Given the description of an element on the screen output the (x, y) to click on. 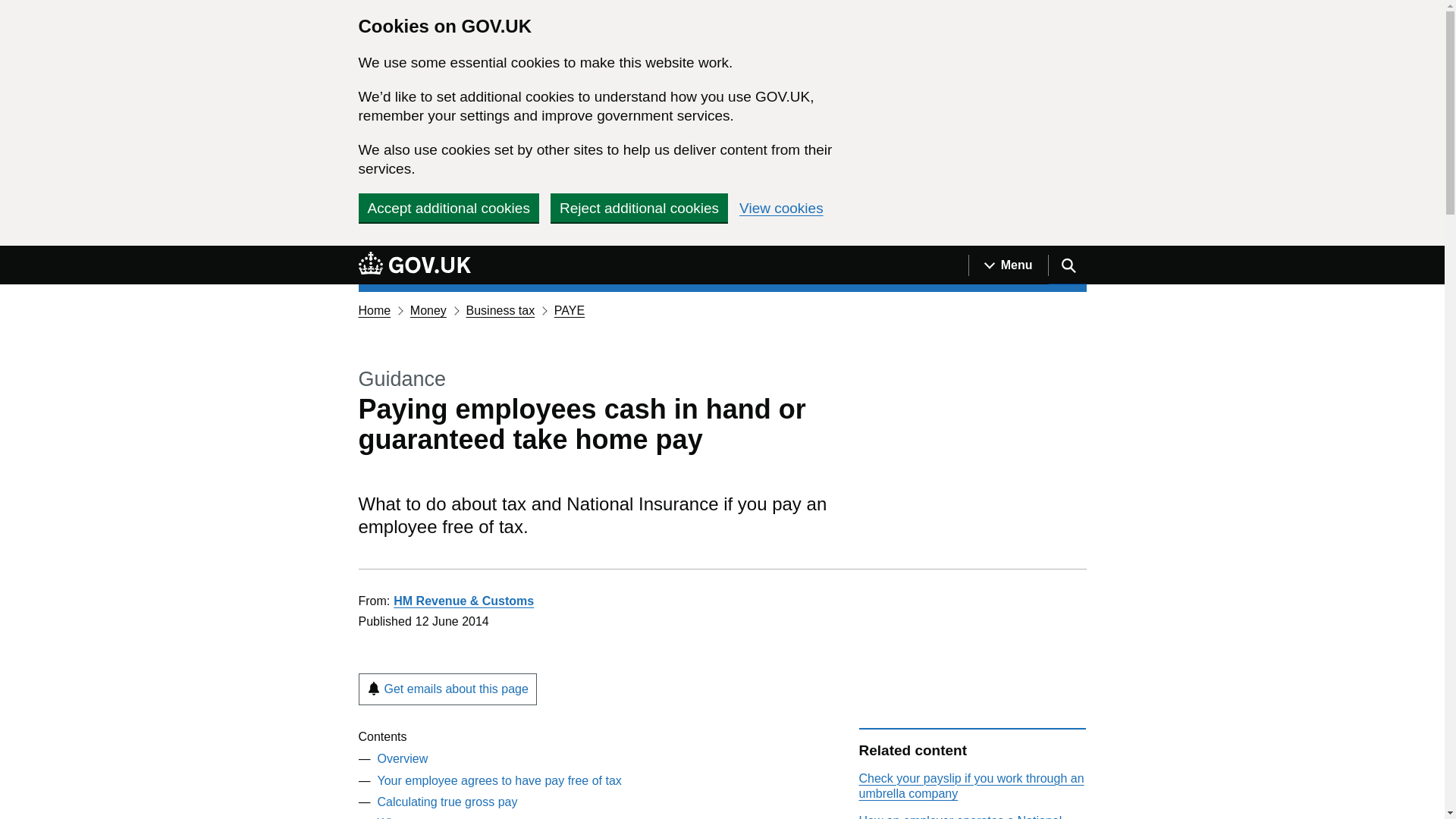
Menu (1008, 265)
Check your payslip if you work through an umbrella company (971, 786)
Your employee agrees to have pay free of tax (499, 780)
GOV.UK (414, 264)
Get emails about this page (446, 689)
Calculating true gross pay (447, 801)
GOV.UK (414, 262)
Overview (402, 758)
What to report (415, 817)
Reject additional cookies (639, 207)
